Given the description of an element on the screen output the (x, y) to click on. 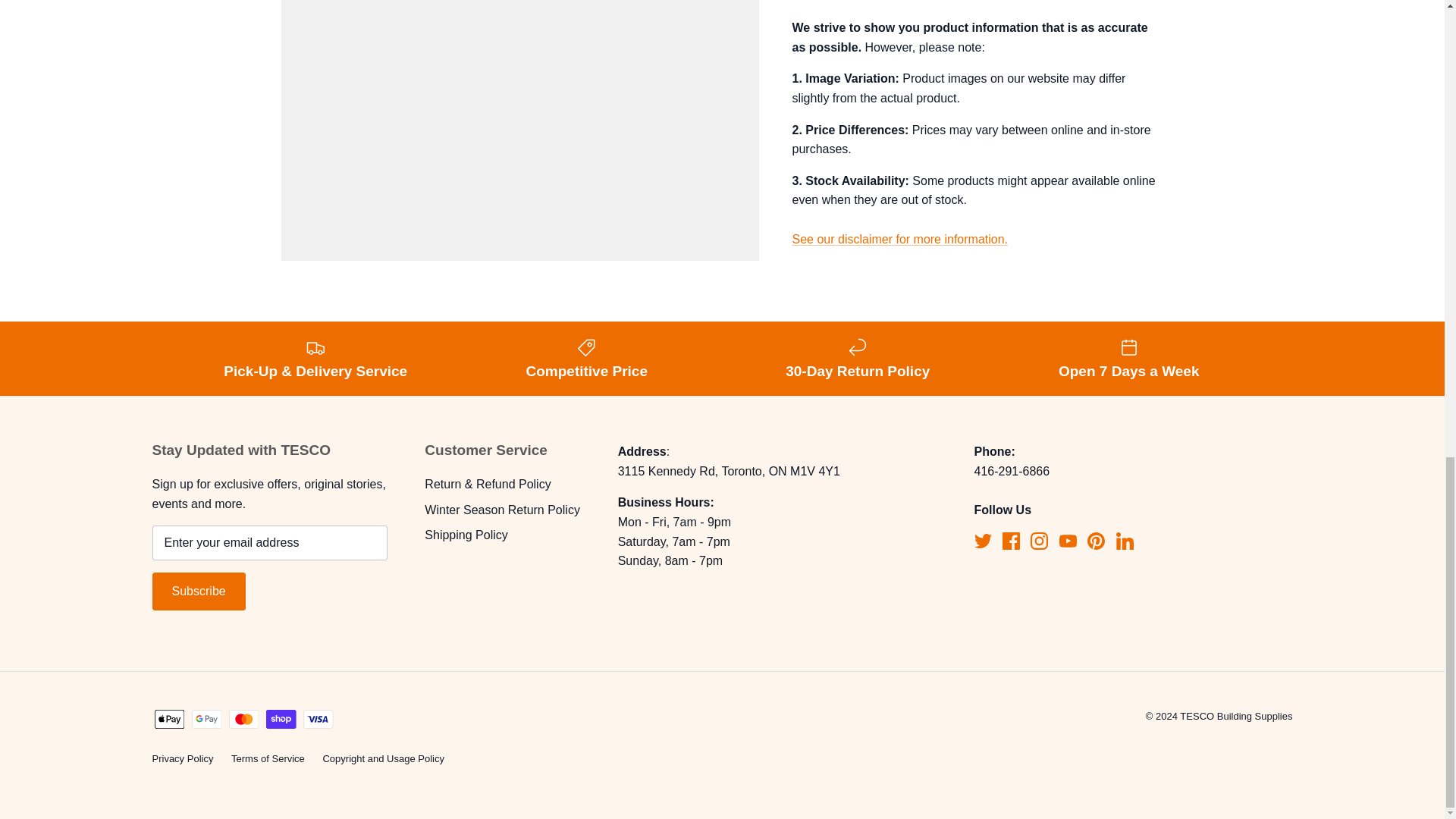
Apple Pay (169, 719)
Youtube (1068, 540)
Facebook (1011, 540)
Twitter (982, 540)
Google Pay (206, 719)
Pinterest (1096, 540)
Terms of Service (899, 226)
Mastercard (243, 719)
Shop Pay (280, 719)
Instagram (1039, 540)
